Given the description of an element on the screen output the (x, y) to click on. 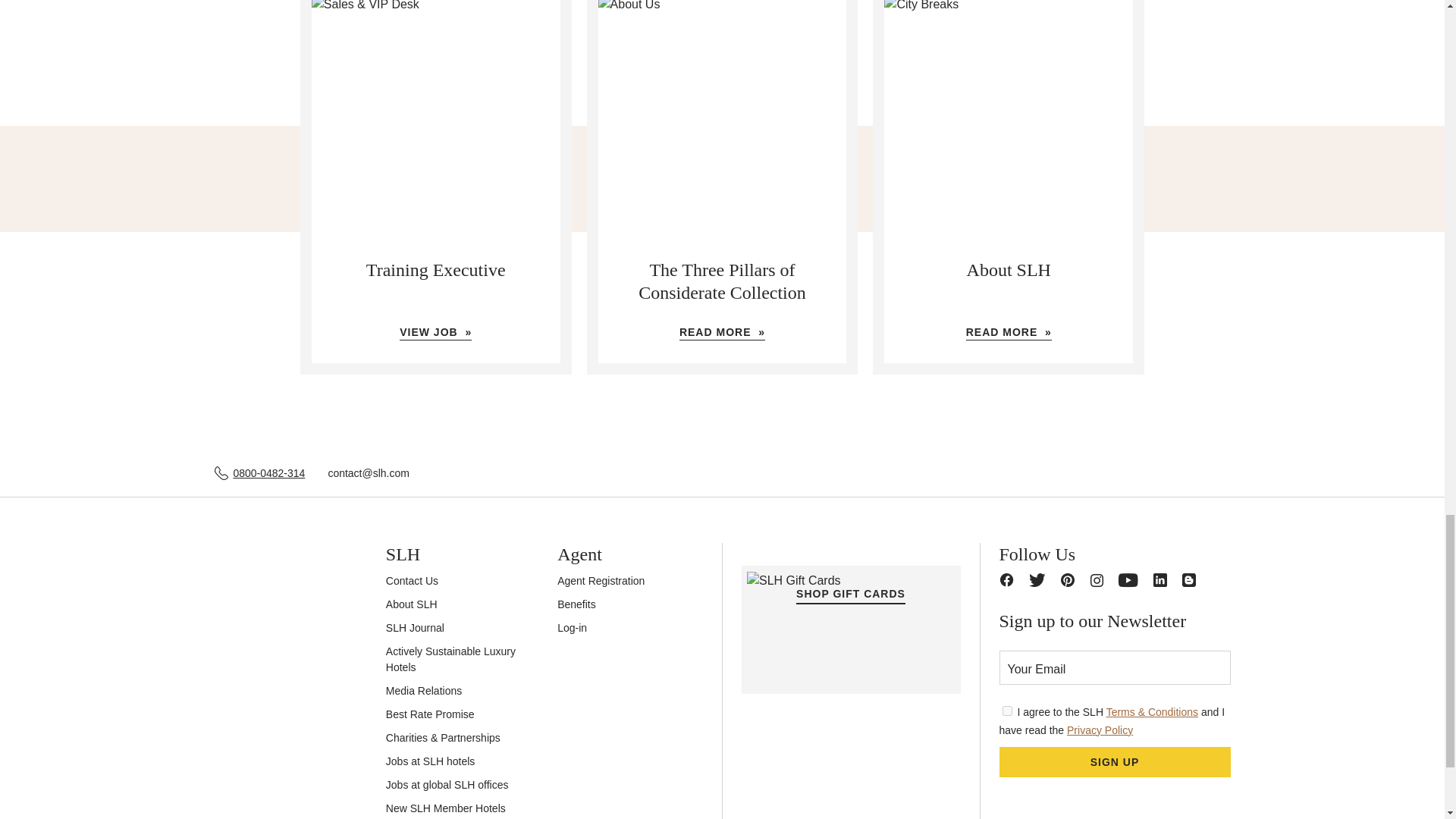
0800-0482-314 (268, 473)
PrivacyPolicy (1007, 710)
Sign up (1114, 761)
Contact Us (411, 580)
